Given the description of an element on the screen output the (x, y) to click on. 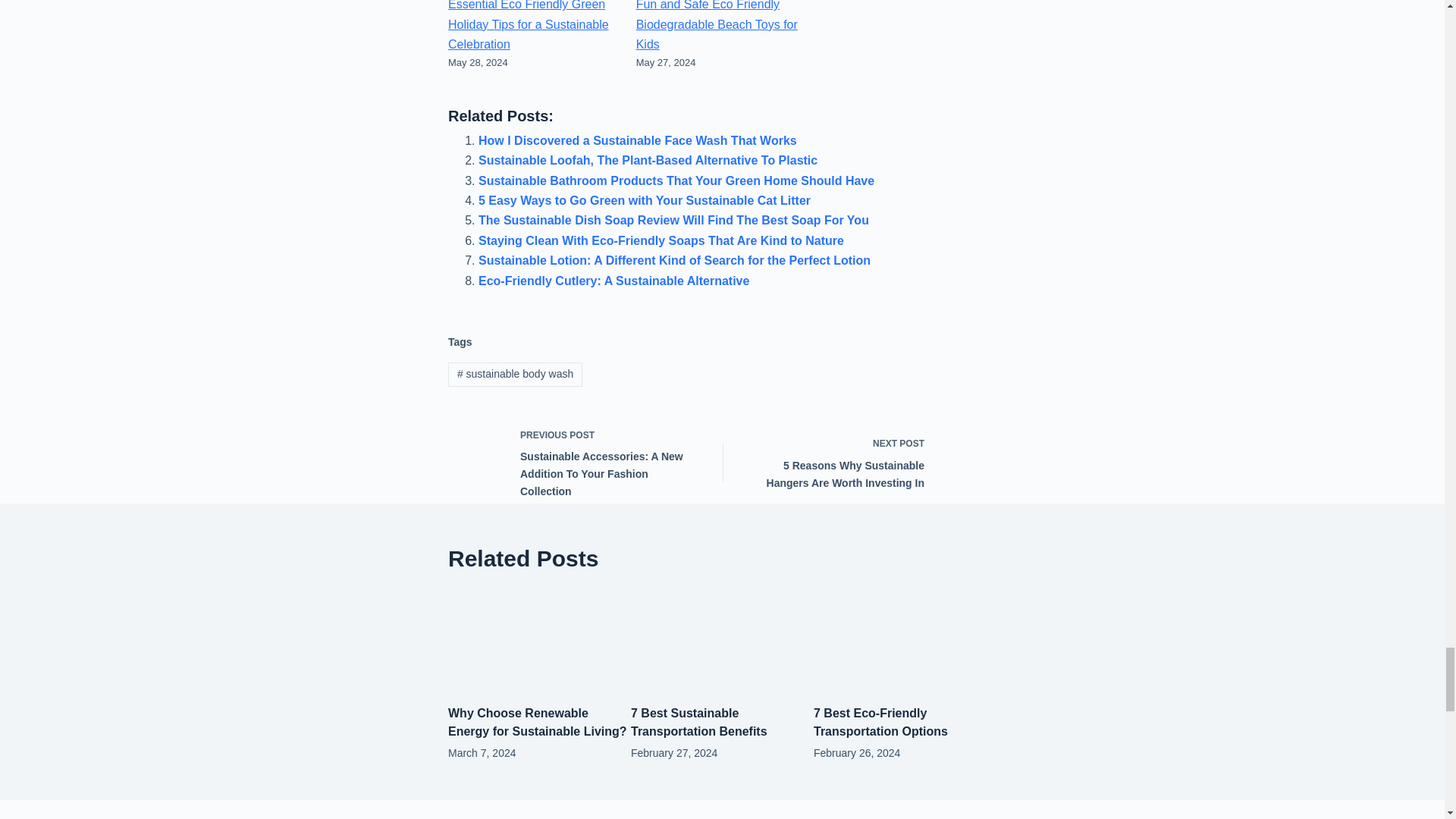
Sustainable Loofah, The Plant-Based Alternative To Plastic (647, 160)
How I Discovered a Sustainable Face Wash That Works (637, 140)
5 Easy Ways to Go Green with Your Sustainable Cat Litter (644, 200)
Eco-Friendly Cutlery: A Sustainable Alternative (614, 280)
